Given the description of an element on the screen output the (x, y) to click on. 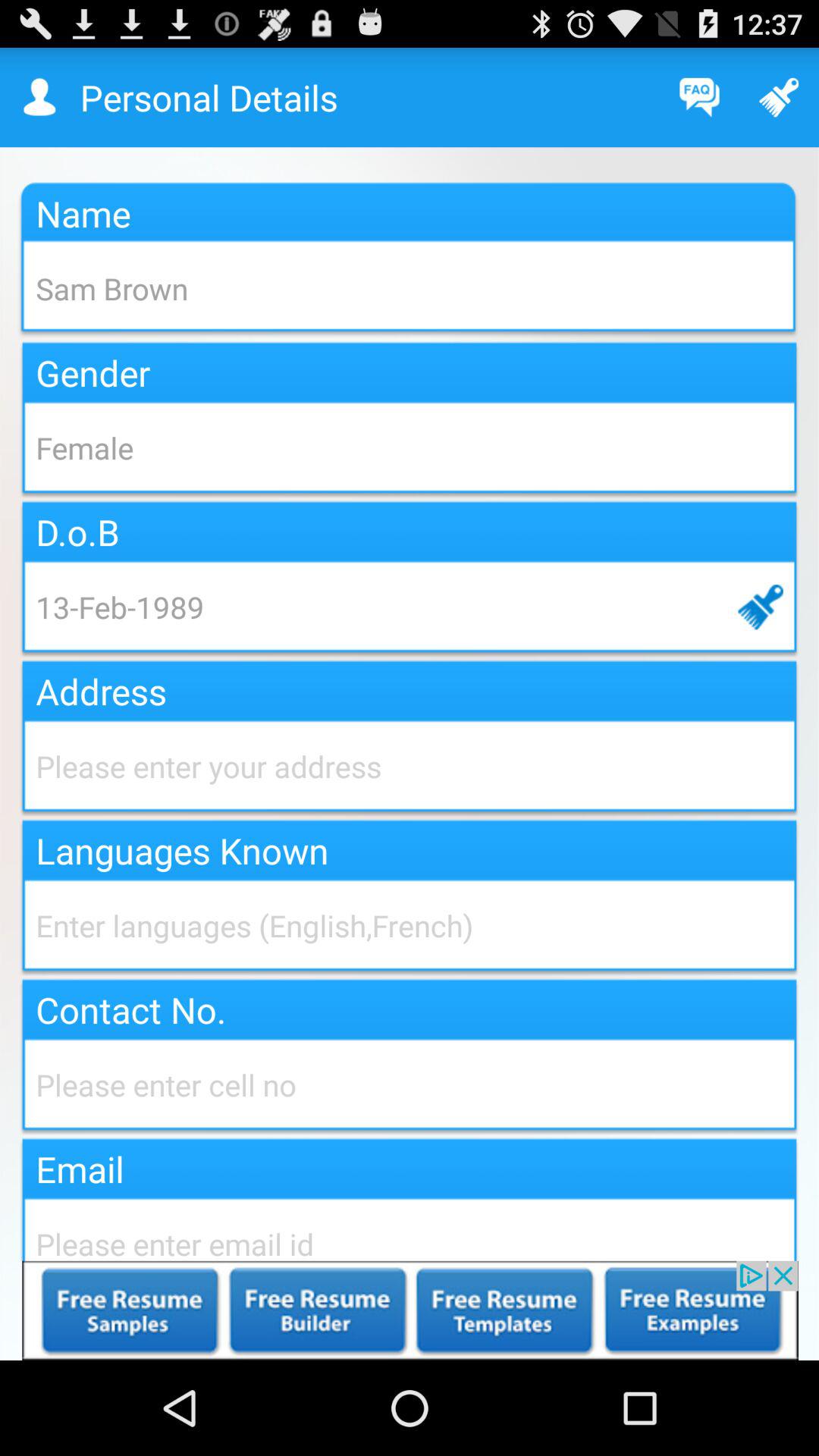
enter address (409, 766)
